Given the description of an element on the screen output the (x, y) to click on. 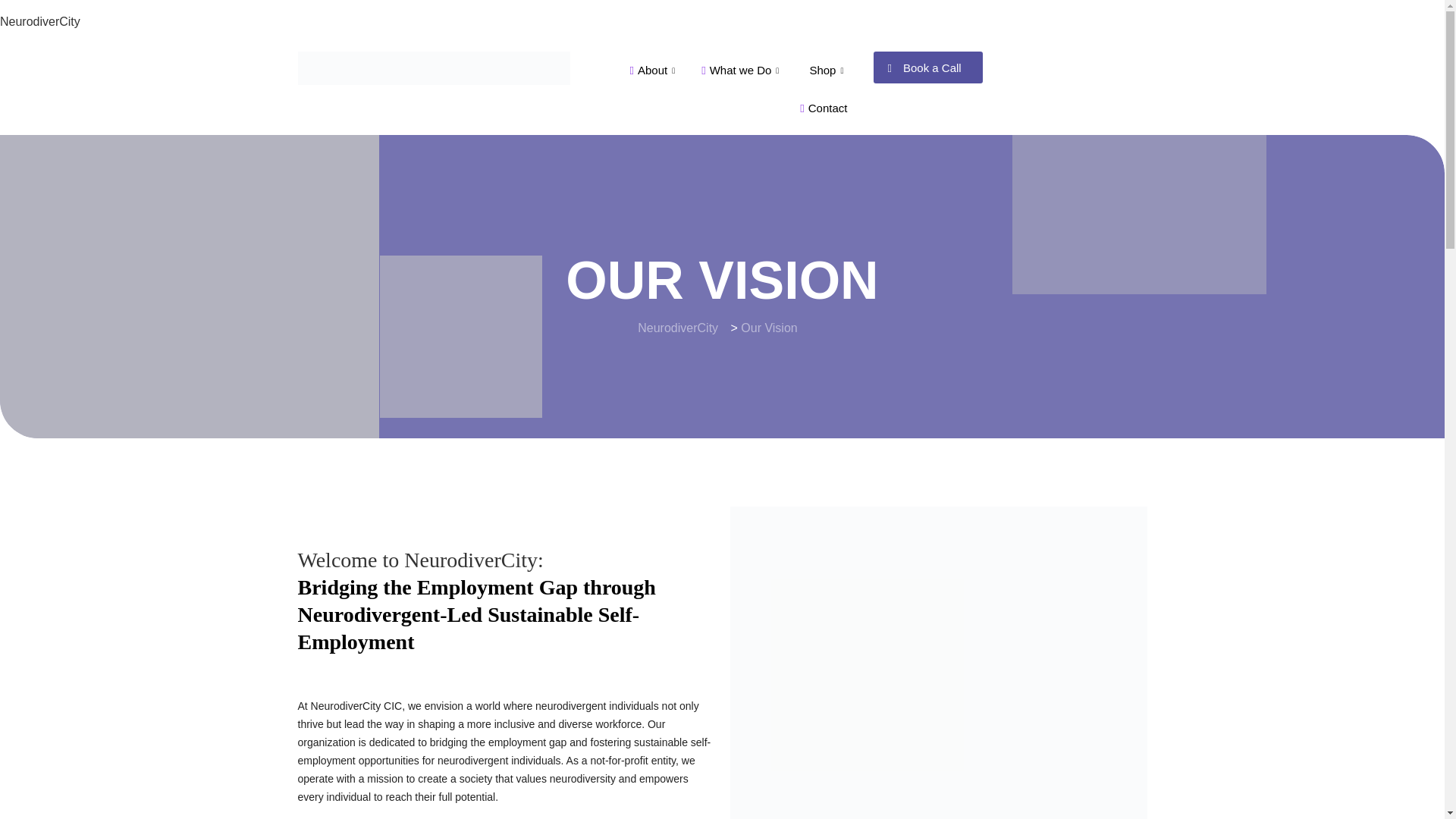
NeurodiverCity (40, 21)
About (653, 70)
NeurodiverCity (40, 21)
Go to NeurodiverCity. (677, 327)
What we Do (741, 70)
